Given the description of an element on the screen output the (x, y) to click on. 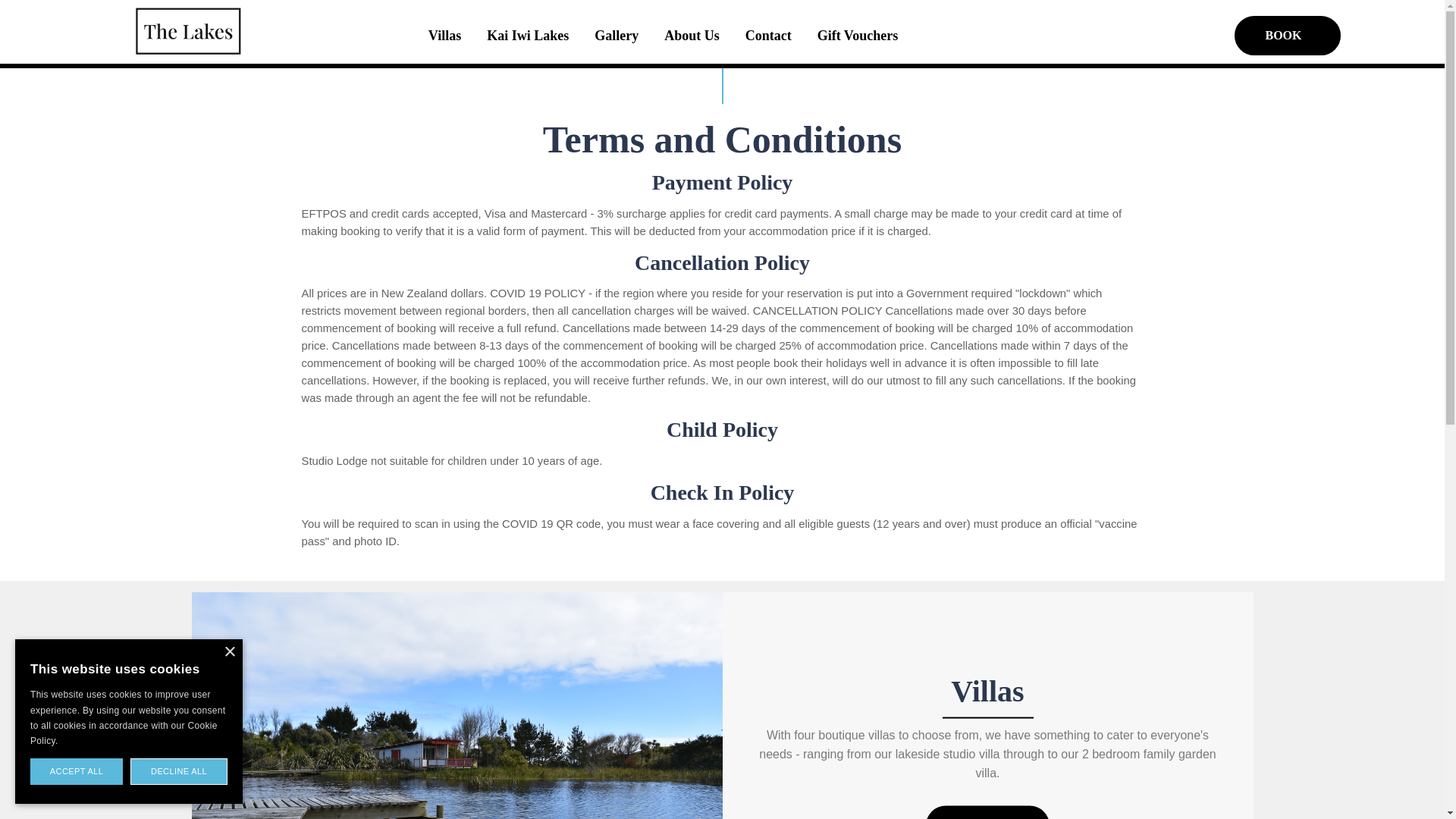
Gift Vouchers (858, 35)
Kai Iwi Lakes (527, 35)
Contact (768, 35)
Gallery (615, 35)
Villas (986, 690)
BOOK (1287, 35)
READ MORE (987, 812)
About Us (691, 35)
